Given the description of an element on the screen output the (x, y) to click on. 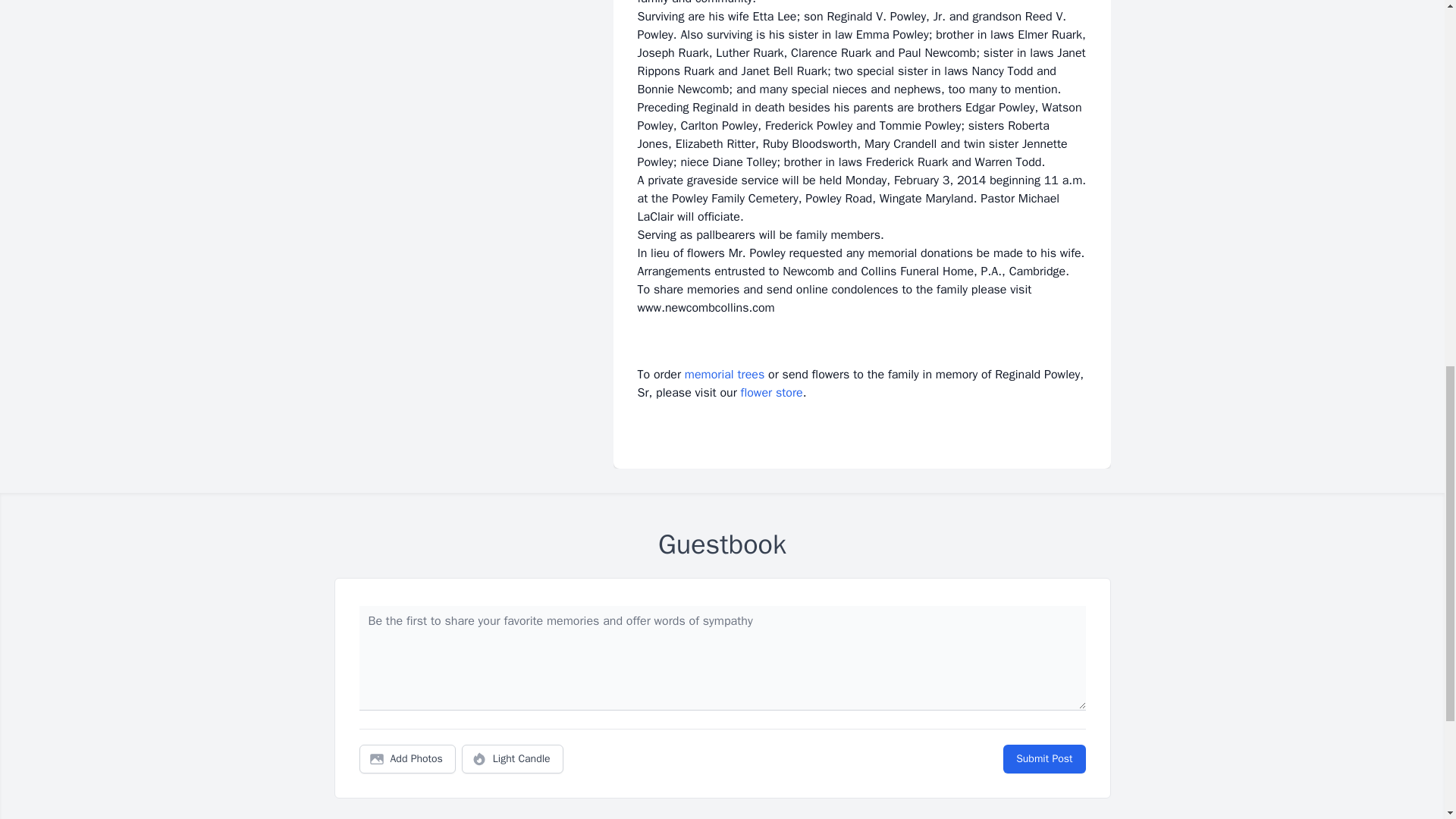
flower store (772, 392)
Light Candle (512, 758)
Submit Post (1043, 758)
memorial trees (724, 374)
Add Photos (407, 758)
